Given the description of an element on the screen output the (x, y) to click on. 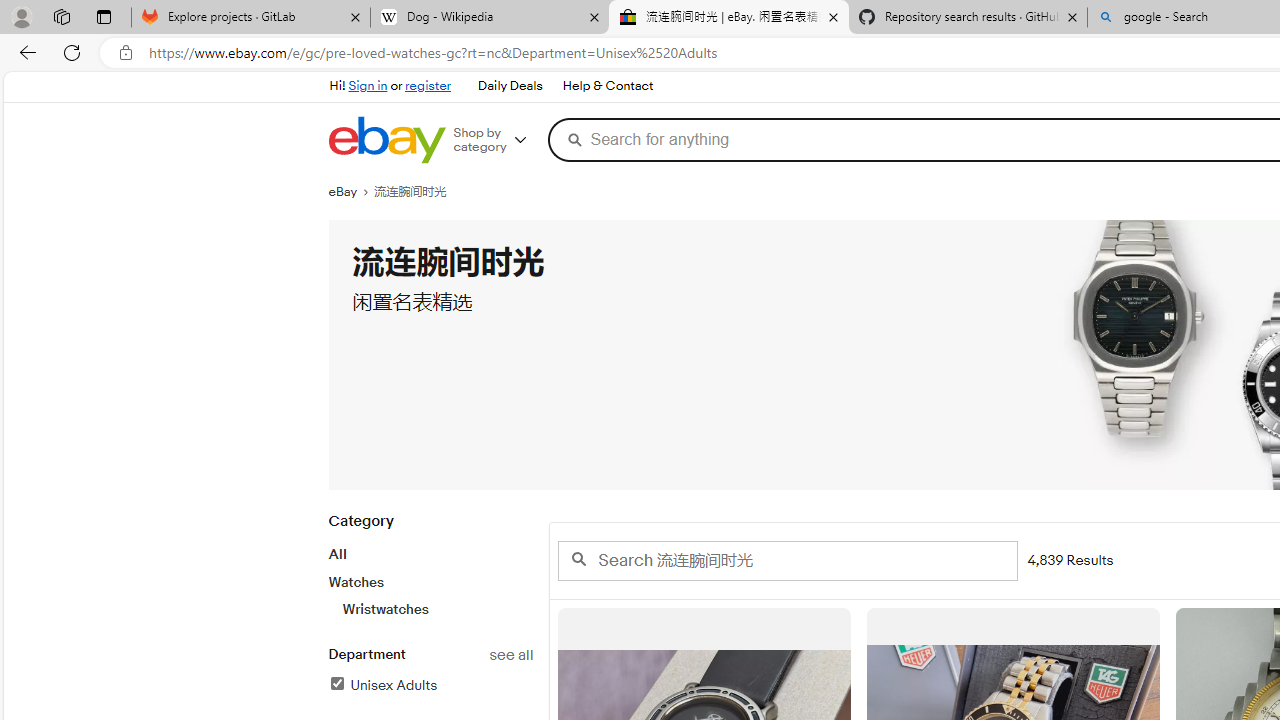
register (427, 85)
Enter your search keyword (786, 560)
Daily Deals (509, 86)
eBay (351, 192)
Dog - Wikipedia (490, 17)
Help & Contact (607, 86)
Unisex Adults Filter Applied (381, 685)
Wristwatches (437, 609)
Unisex AdultsFilter Applied (430, 686)
